Given the description of an element on the screen output the (x, y) to click on. 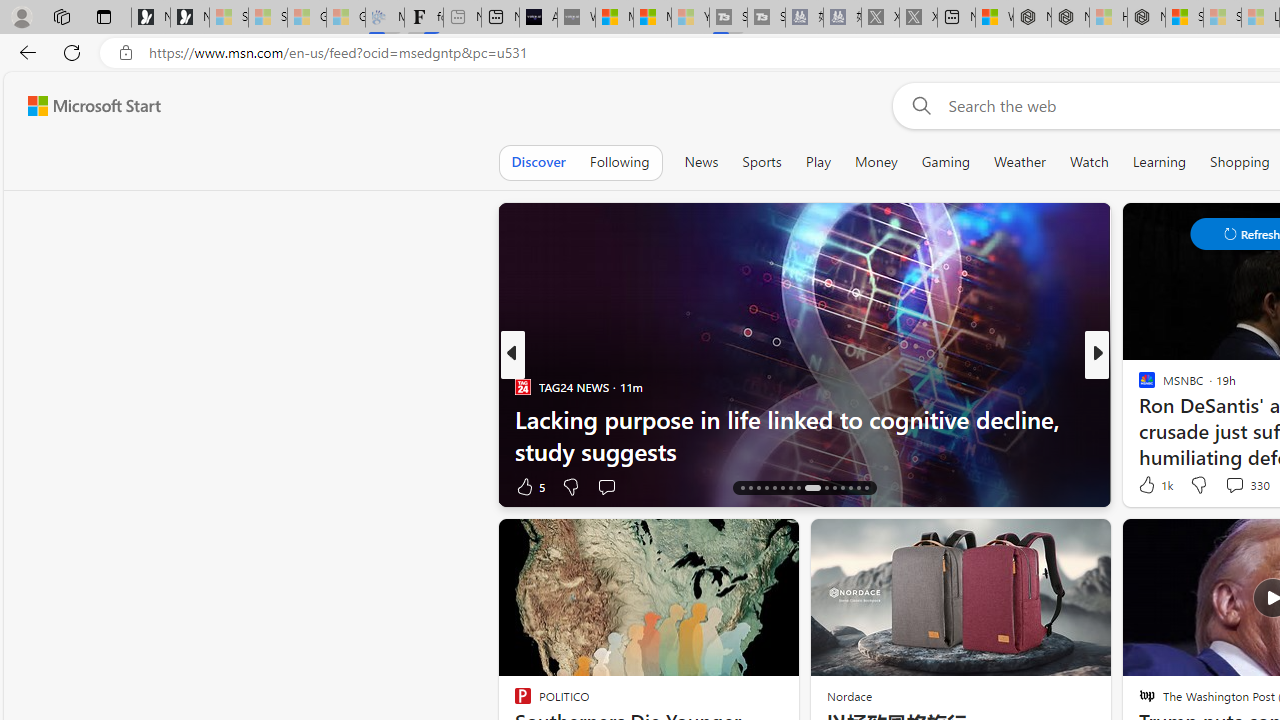
AutomationID: tab-24 (812, 487)
MUO (1138, 386)
TAG24 NEWS (522, 386)
87 Like (1149, 486)
View comments 96 Comment (1244, 486)
AutomationID: tab-20 (774, 487)
Hide this story (738, 542)
44 Like (1149, 486)
AutomationID: tab-29 (857, 487)
AutomationID: tab-25 (825, 487)
AI Voice Changer for PC and Mac - Voice.ai (537, 17)
